Given the description of an element on the screen output the (x, y) to click on. 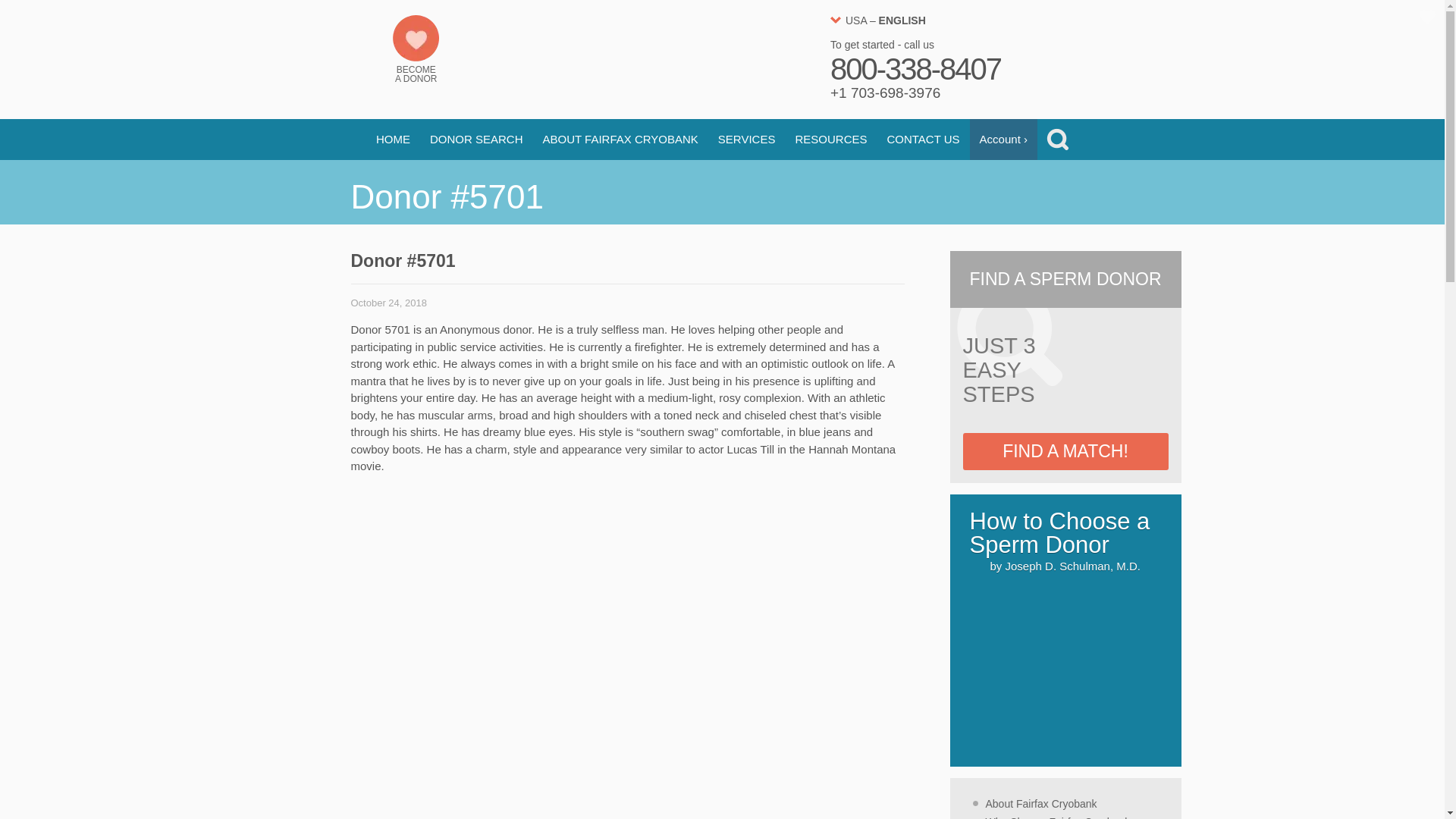
DONOR SEARCH (476, 138)
HOME (393, 138)
ABOUT FAIRFAX CRYOBANK (619, 138)
SERVICES (746, 138)
